Given the description of an element on the screen output the (x, y) to click on. 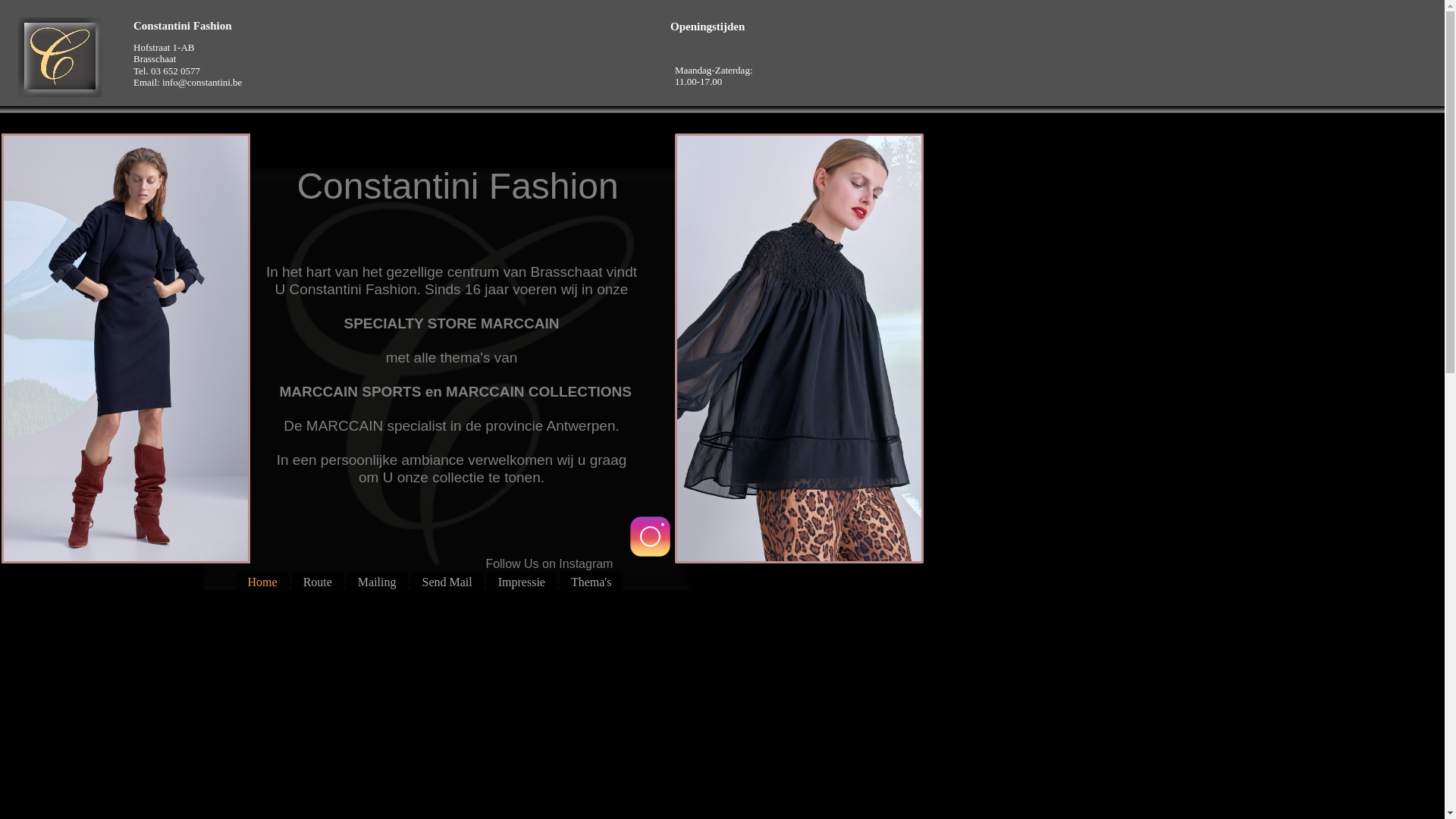
Thema's Element type: text (591, 582)
Home Element type: text (262, 582)
Send Mail Element type: text (447, 582)
Mailing Element type: text (376, 582)
Follow Us Element type: hover (650, 536)
Impressie Element type: text (521, 582)
Route Element type: text (317, 582)
